Given the description of an element on the screen output the (x, y) to click on. 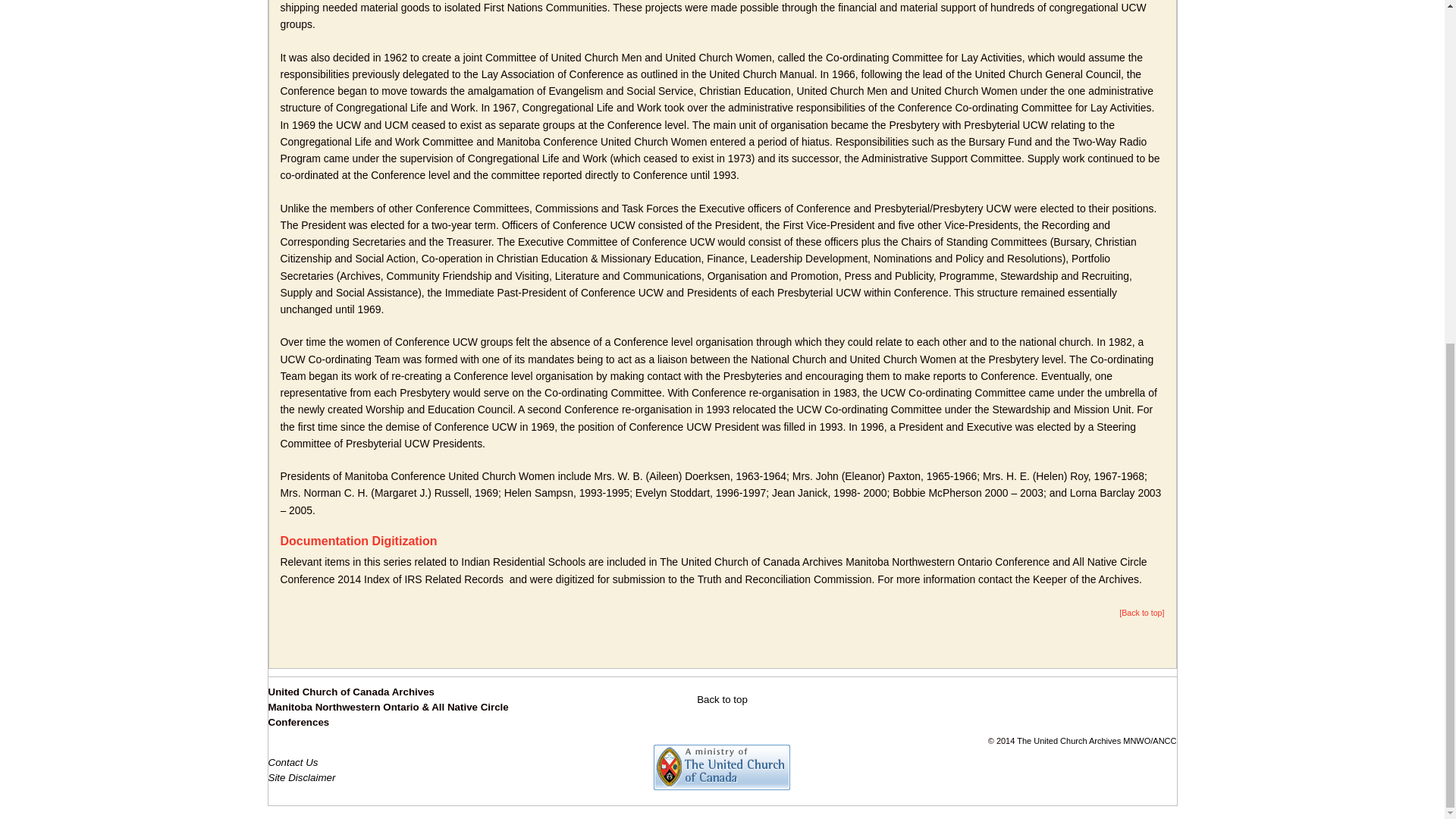
Site Disclaimer (301, 777)
Contact Us (292, 762)
Back to top (722, 699)
